Given the description of an element on the screen output the (x, y) to click on. 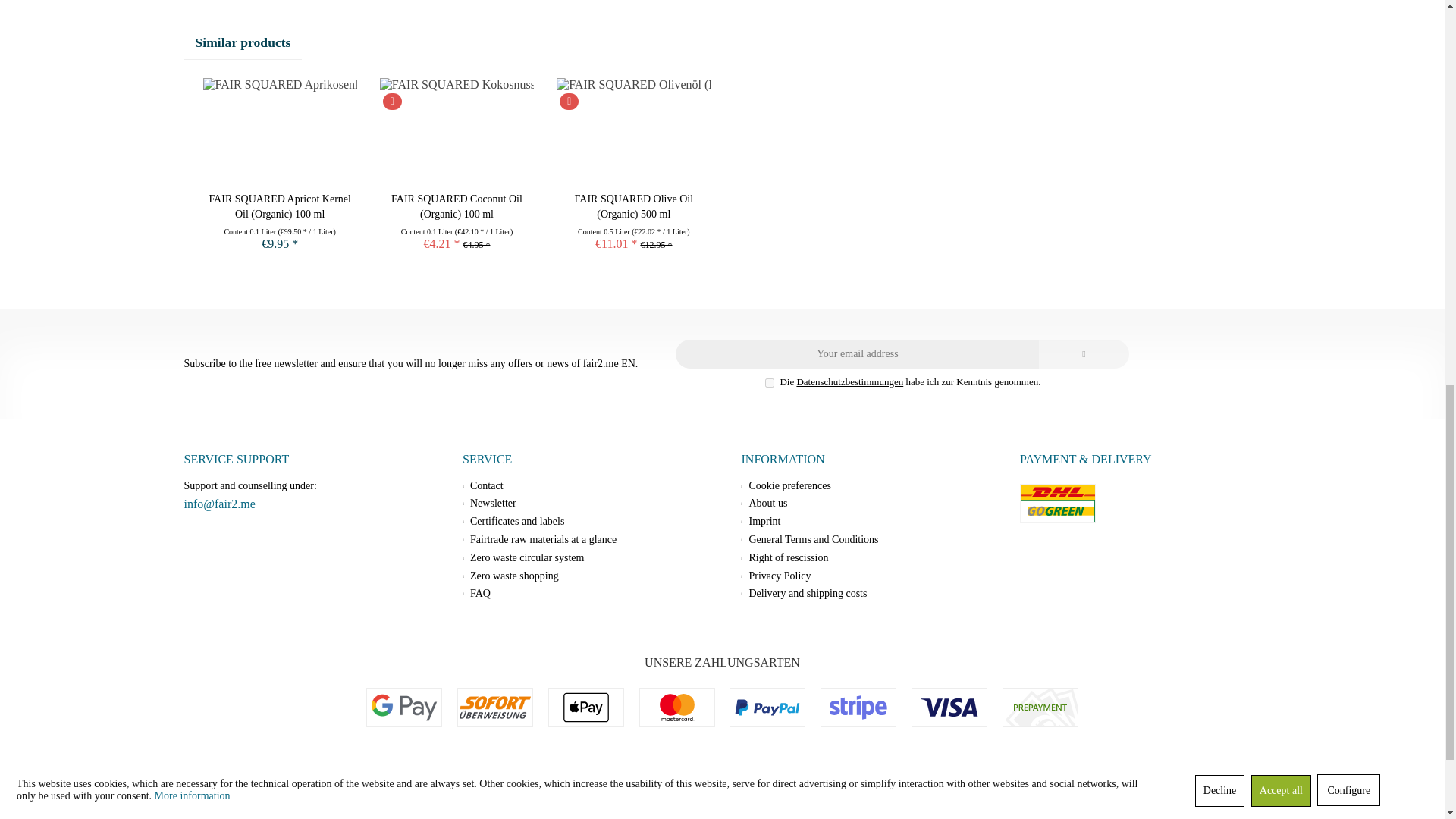
on (769, 382)
